Given the description of an element on the screen output the (x, y) to click on. 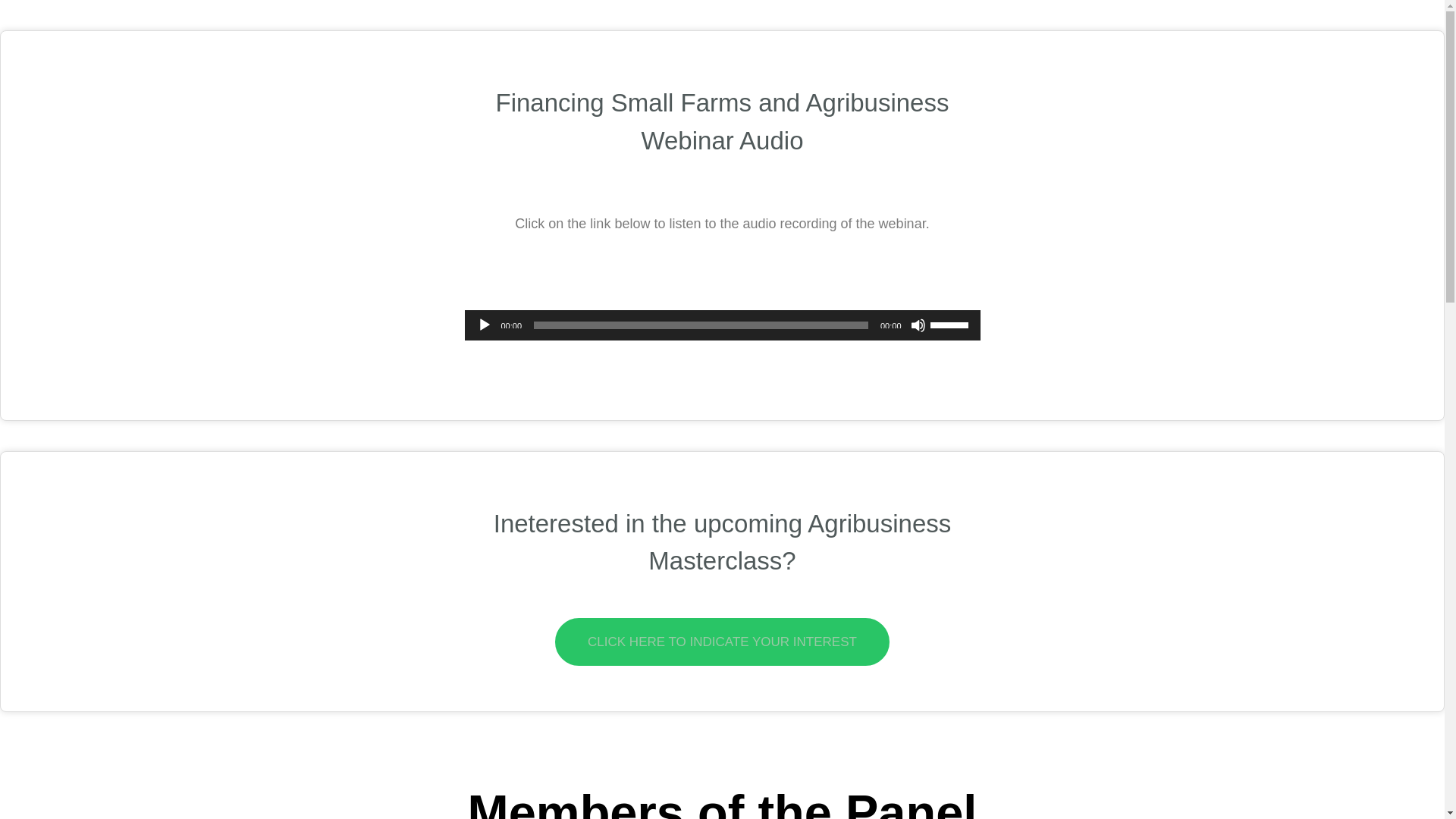
Play (484, 324)
CLICK HERE TO INDICATE YOUR INTEREST (721, 641)
Mute (917, 324)
